Given the description of an element on the screen output the (x, y) to click on. 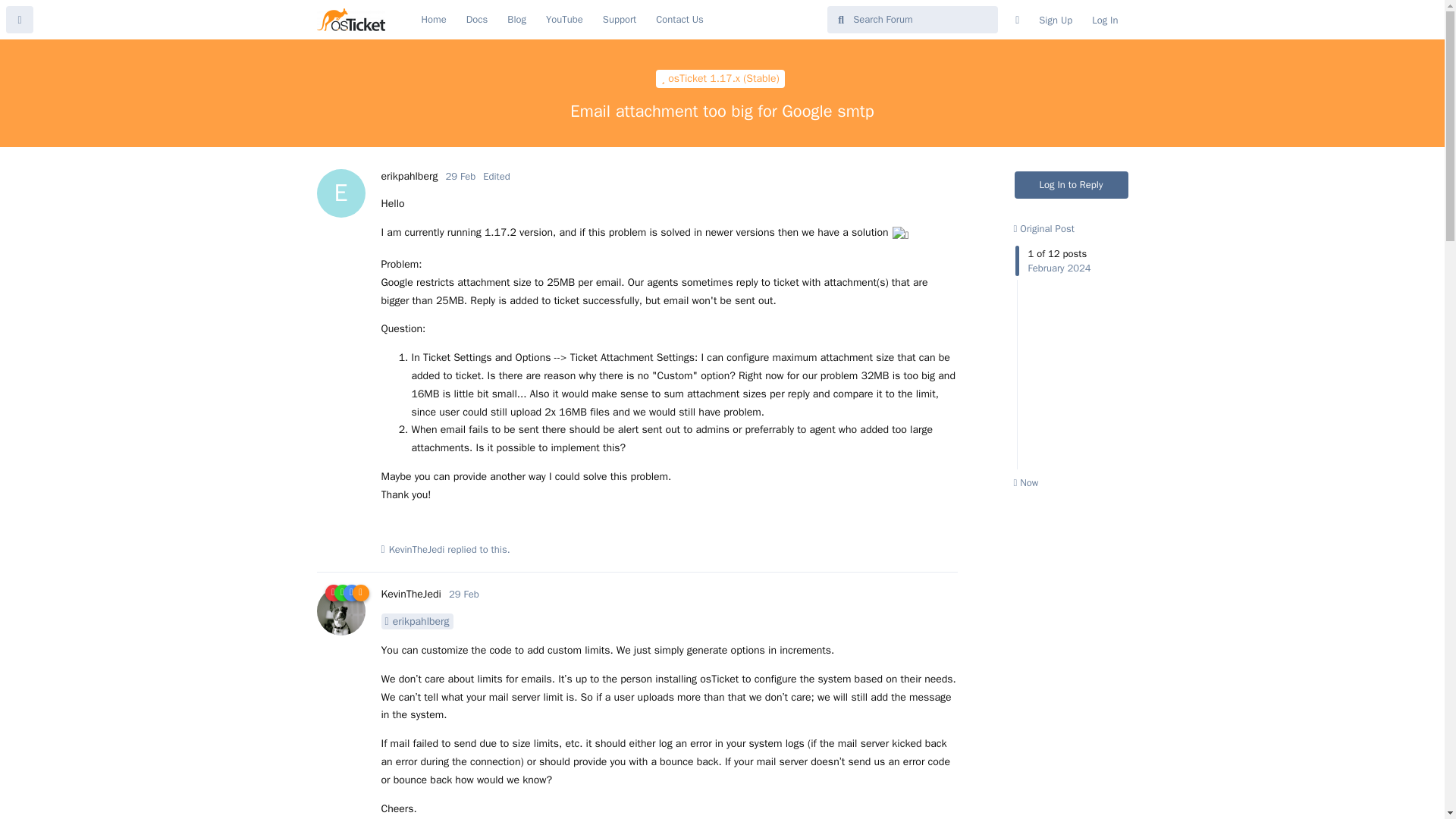
Home (432, 19)
Original Post (1043, 228)
YouTube (563, 19)
Blog (516, 19)
osTicket v1.17 Discussions (720, 78)
KevinTheJedi (410, 594)
Log In (1103, 19)
Contact Us (679, 19)
Docs (477, 19)
KevinTheJedi (416, 549)
